Given the description of an element on the screen output the (x, y) to click on. 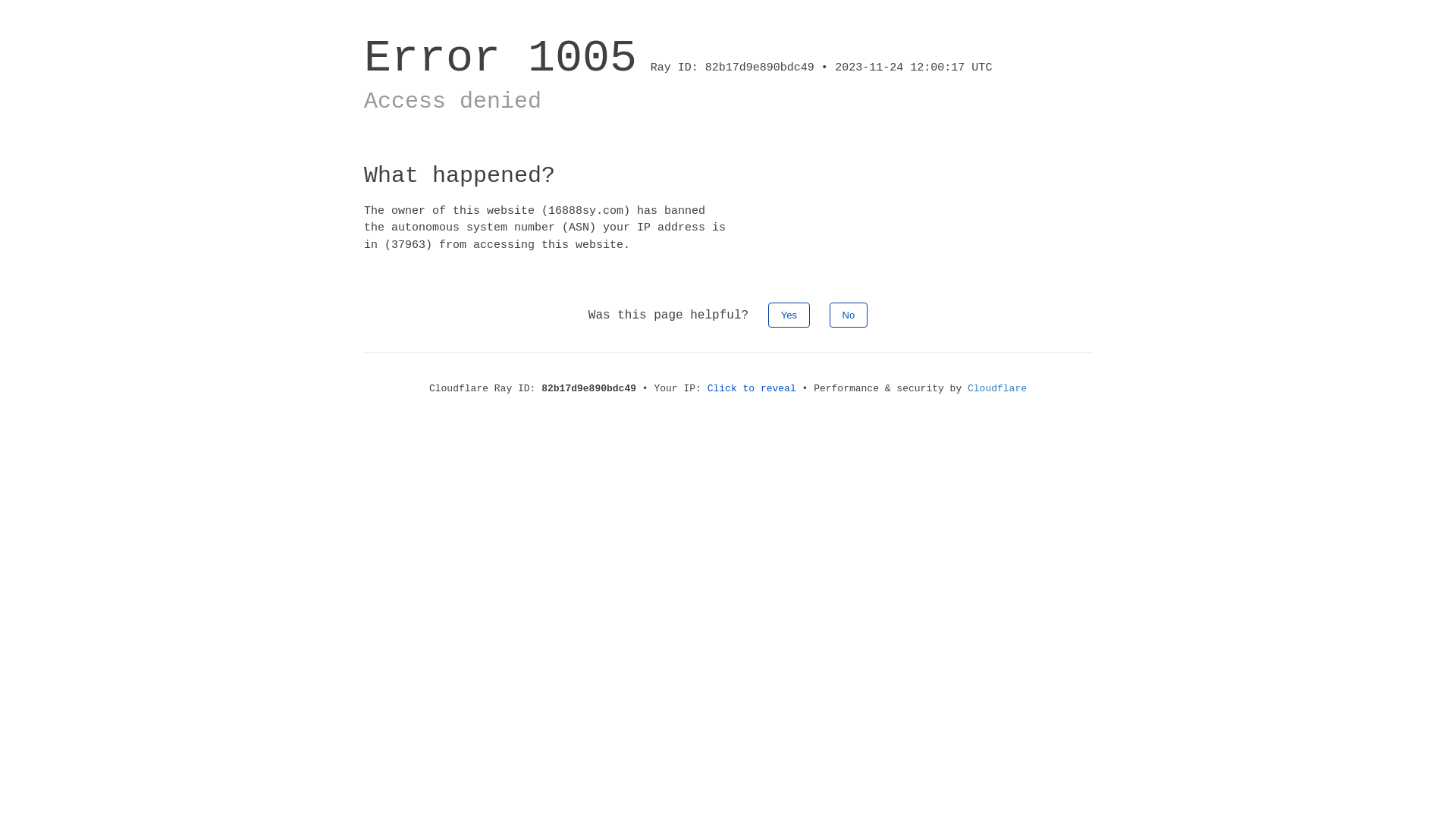
No Element type: text (848, 314)
Click to reveal Element type: text (751, 388)
Cloudflare Element type: text (996, 388)
Yes Element type: text (788, 314)
